Given the description of an element on the screen output the (x, y) to click on. 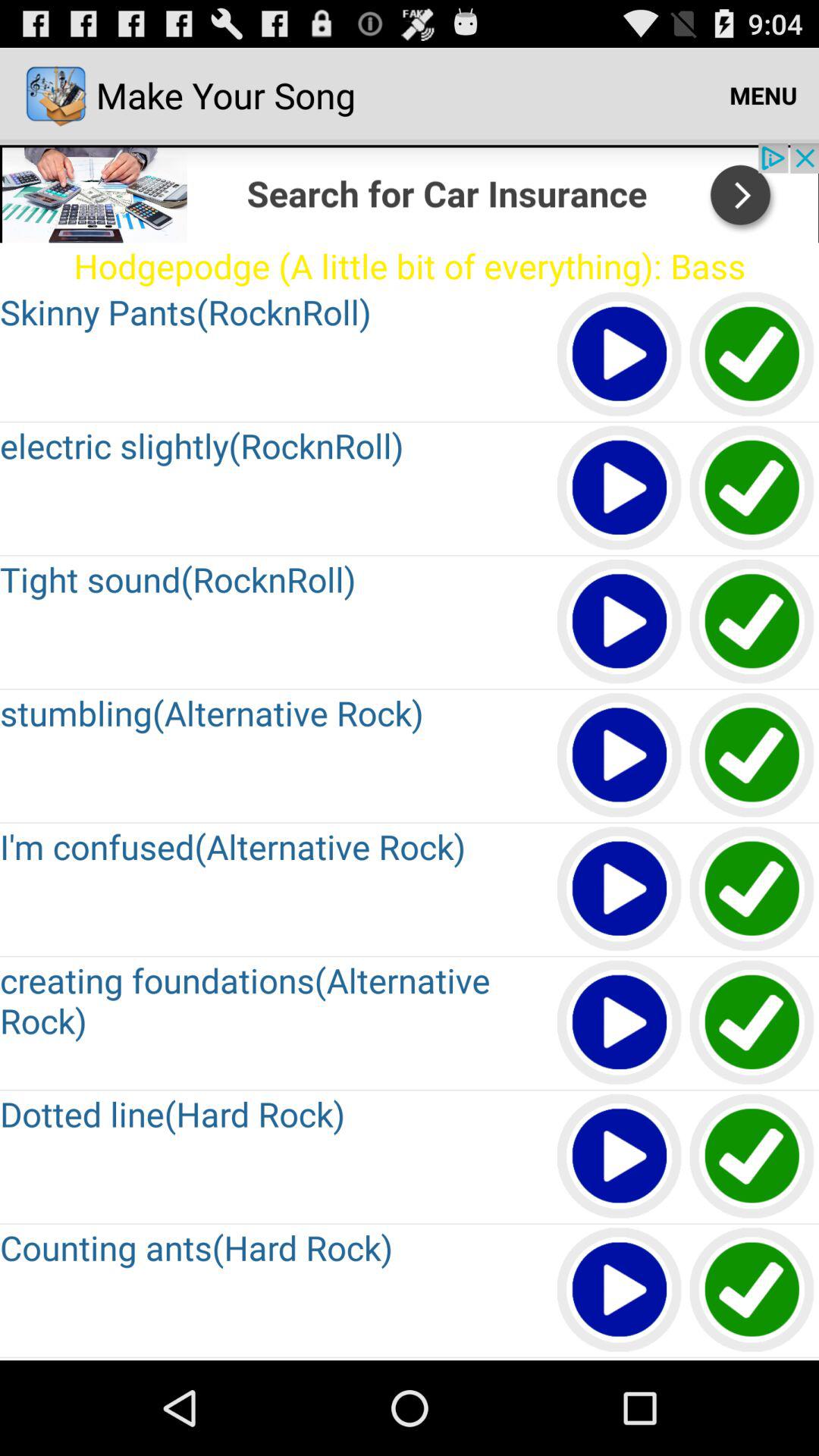
for play (619, 755)
